Given the description of an element on the screen output the (x, y) to click on. 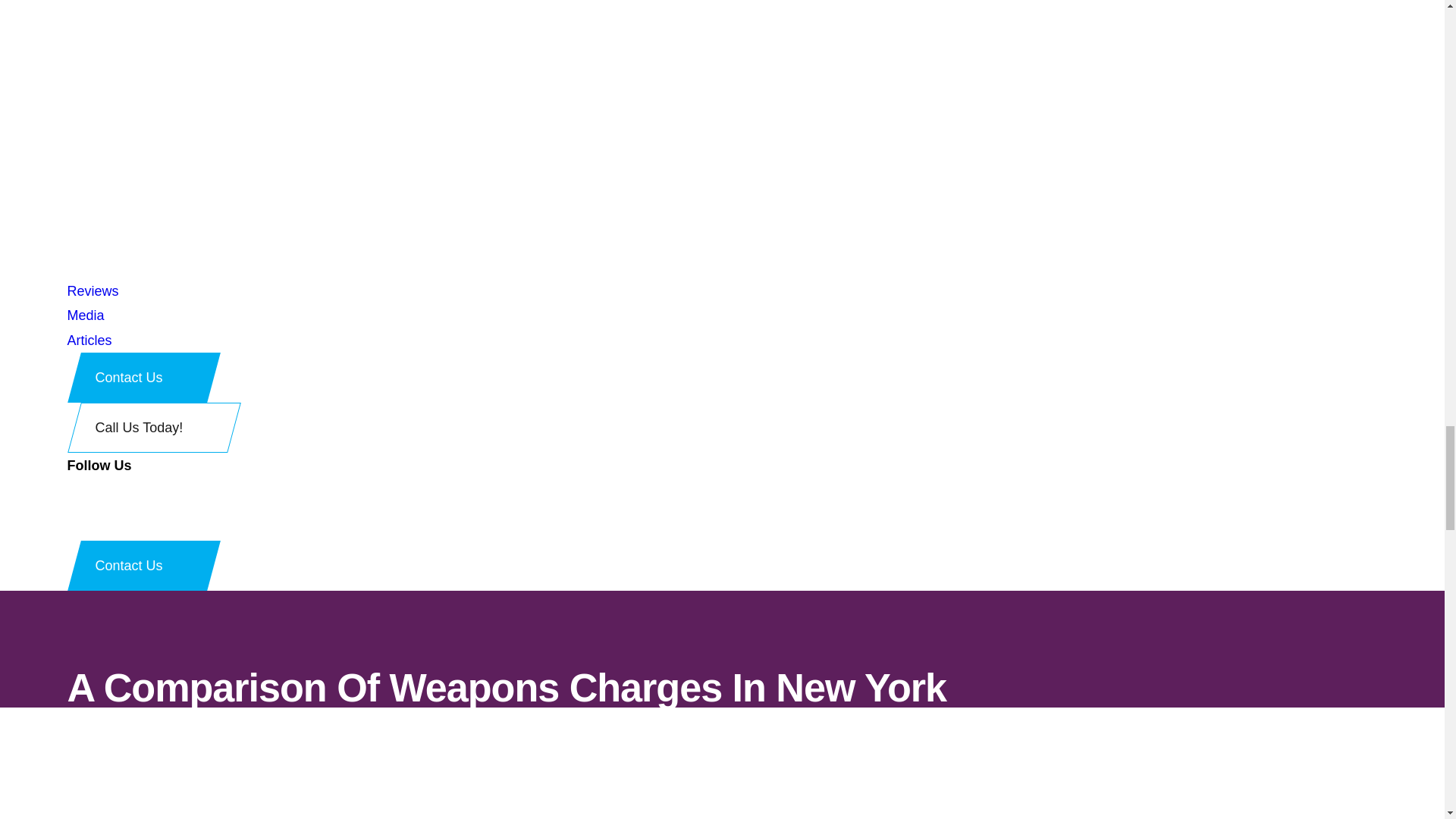
Twitter (73, 527)
Facebook (73, 503)
